Given the description of an element on the screen output the (x, y) to click on. 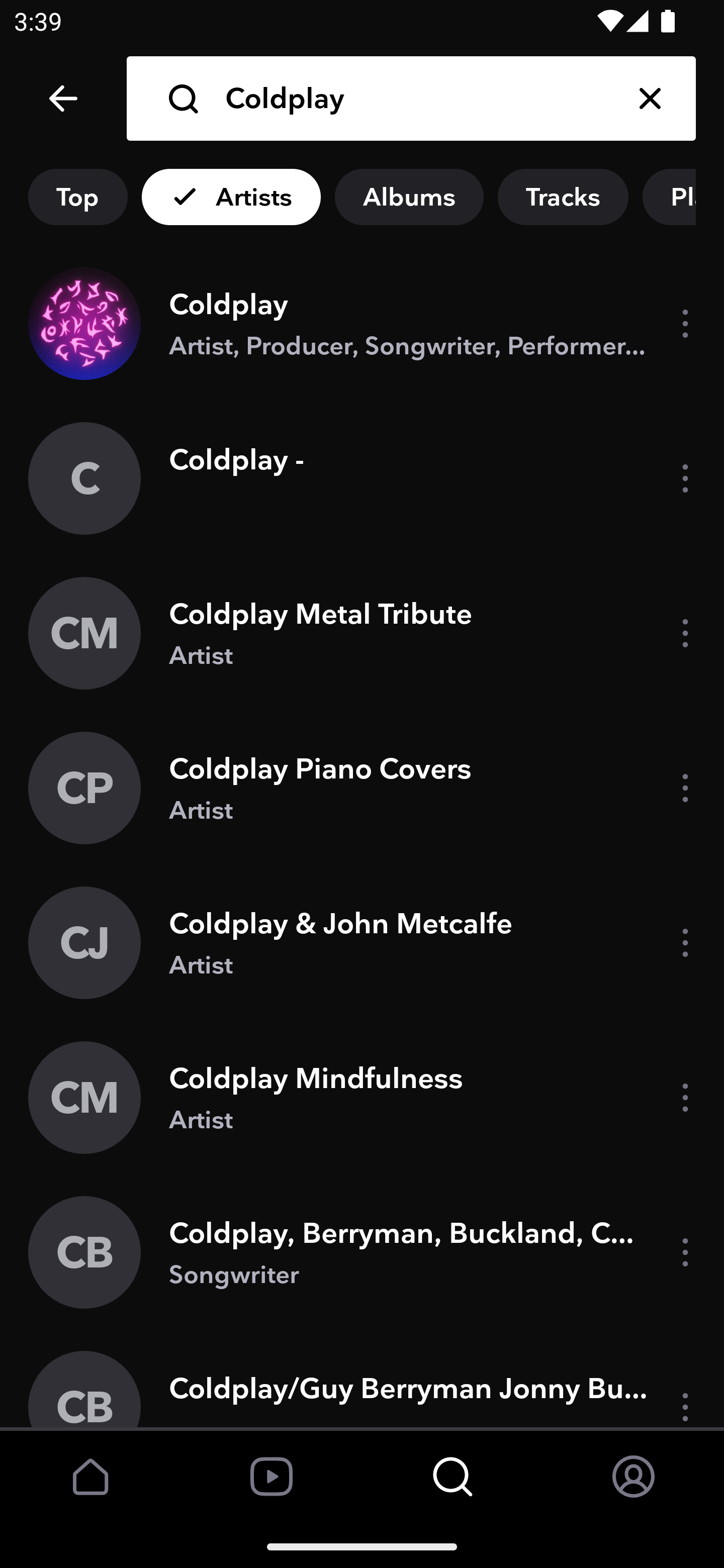
Clear query (650, 98)
Coldplay (414, 98)
Top (77, 197)
Artists (230, 197)
Albums (408, 197)
Tracks (563, 197)
Playlists (683, 197)
C Coldplay - (362, 478)
CM Coldplay Metal Tribute Artist (362, 632)
CP Coldplay Piano Covers Artist (362, 787)
CJ Coldplay & John Metcalfe Artist (362, 942)
CM Coldplay Mindfulness Artist (362, 1097)
